Given the description of an element on the screen output the (x, y) to click on. 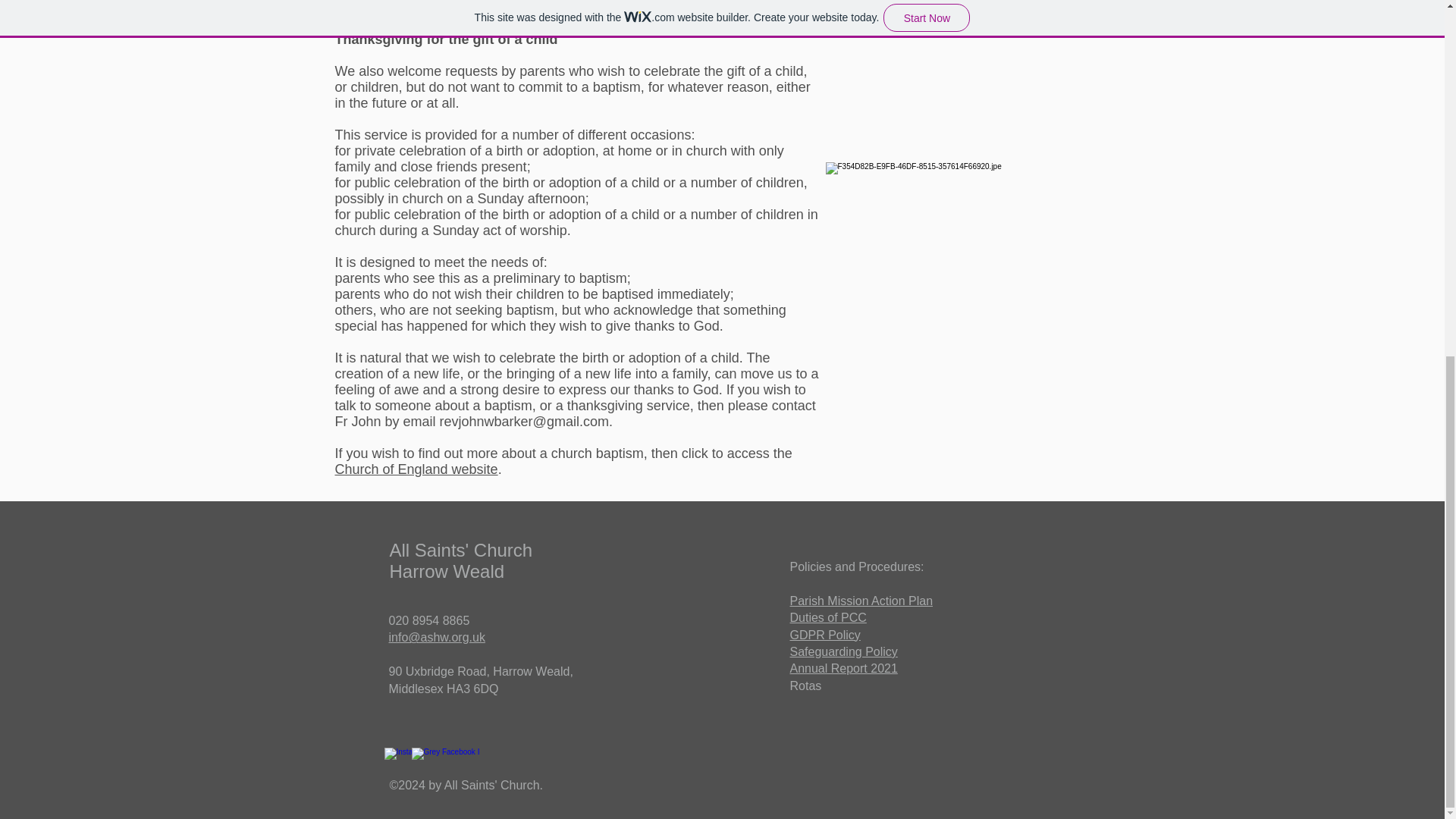
Safeguarding Policy (844, 651)
Parish Mission Action Plan (861, 600)
Duties of PCC (828, 617)
Church of England website (415, 468)
Annual Report 2021 (844, 667)
GDPR Policy (825, 634)
